Given the description of an element on the screen output the (x, y) to click on. 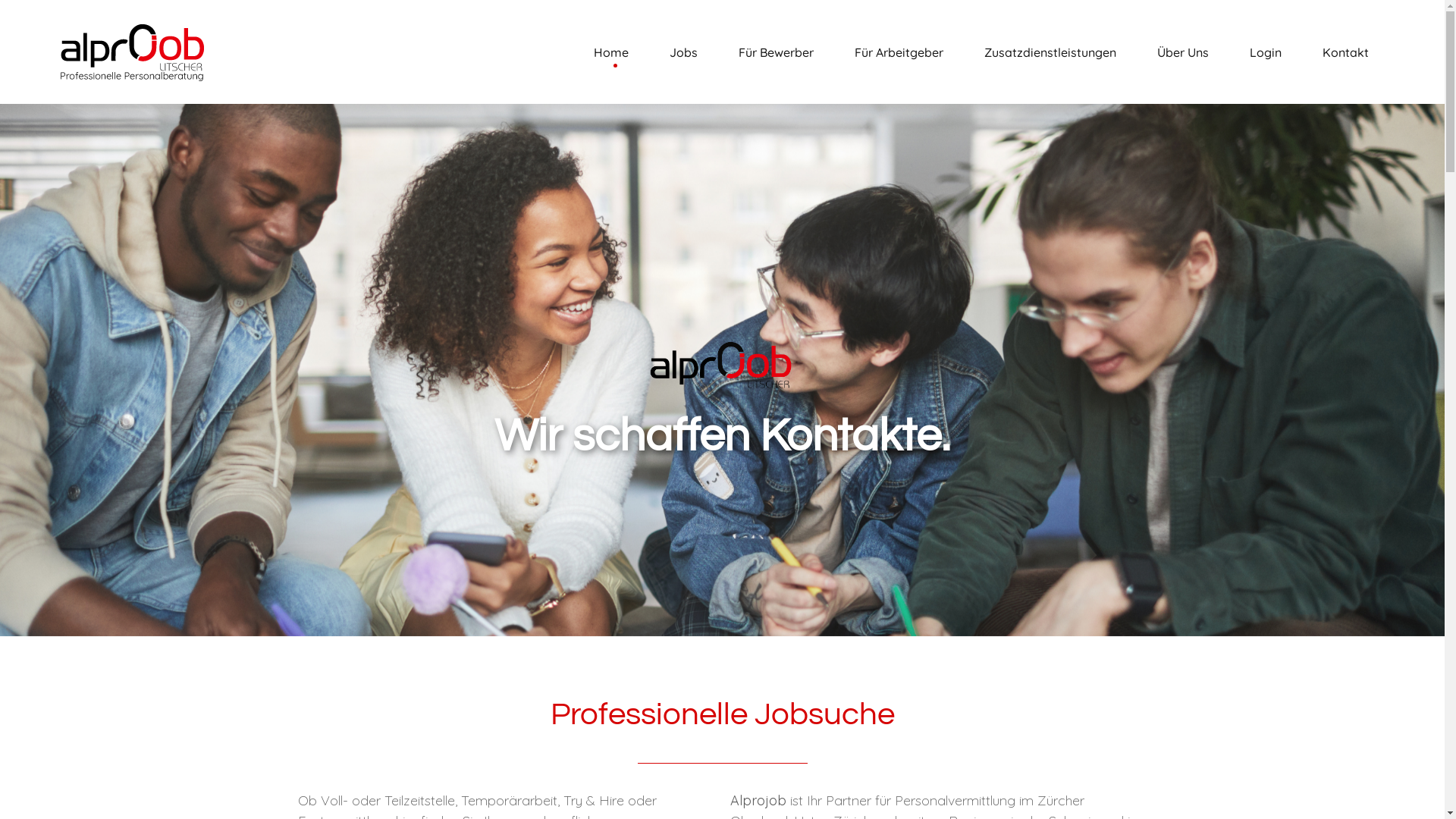
Jobs Element type: text (683, 51)
Login Element type: text (1265, 51)
Home Element type: text (610, 51)
Zusatzdienstleistungen Element type: text (1050, 51)
Kontakt Element type: text (1345, 51)
